Given the description of an element on the screen output the (x, y) to click on. 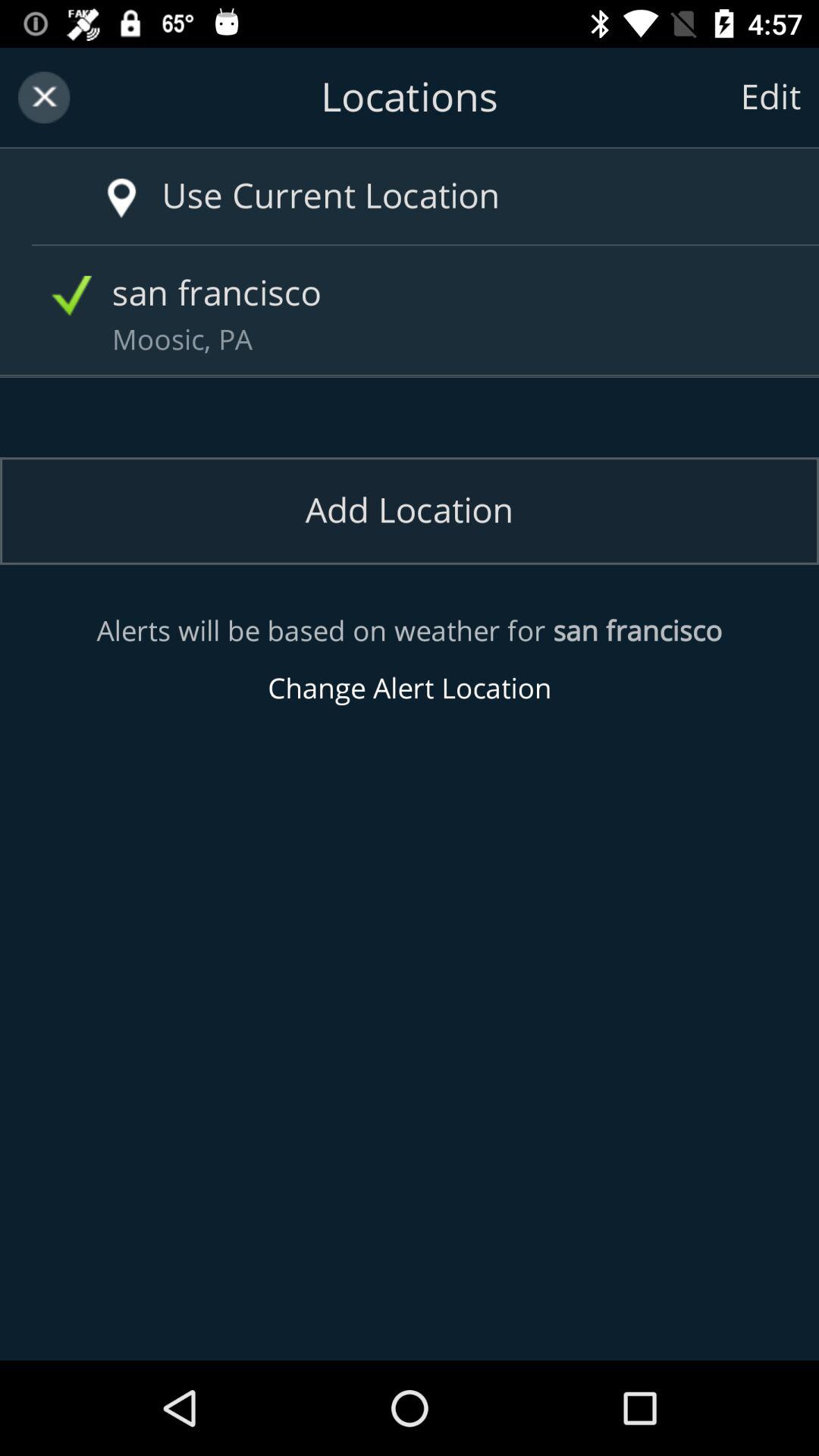
close app (43, 97)
